Given the description of an element on the screen output the (x, y) to click on. 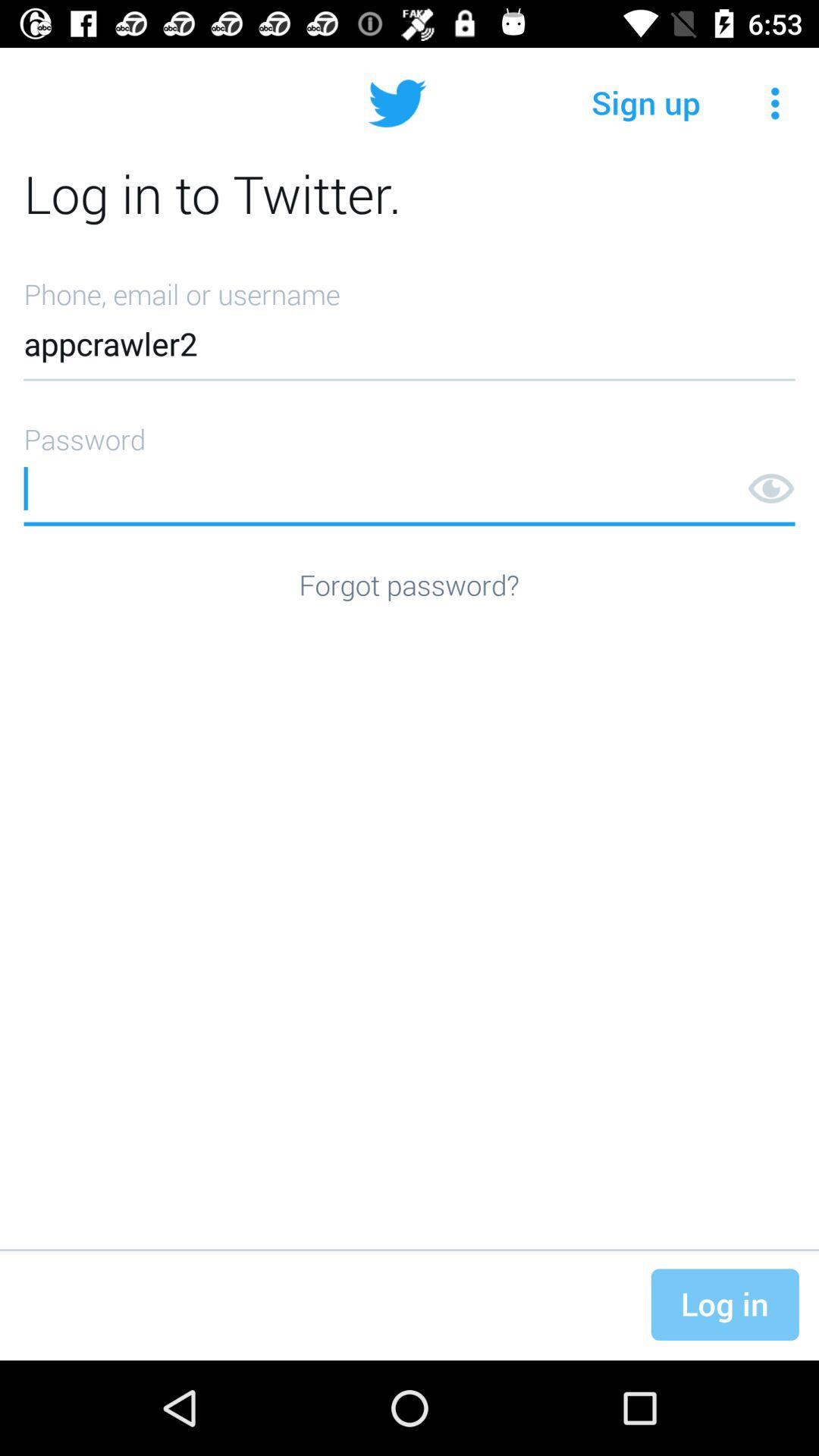
choose forgot password? at the center (409, 584)
